Given the description of an element on the screen output the (x, y) to click on. 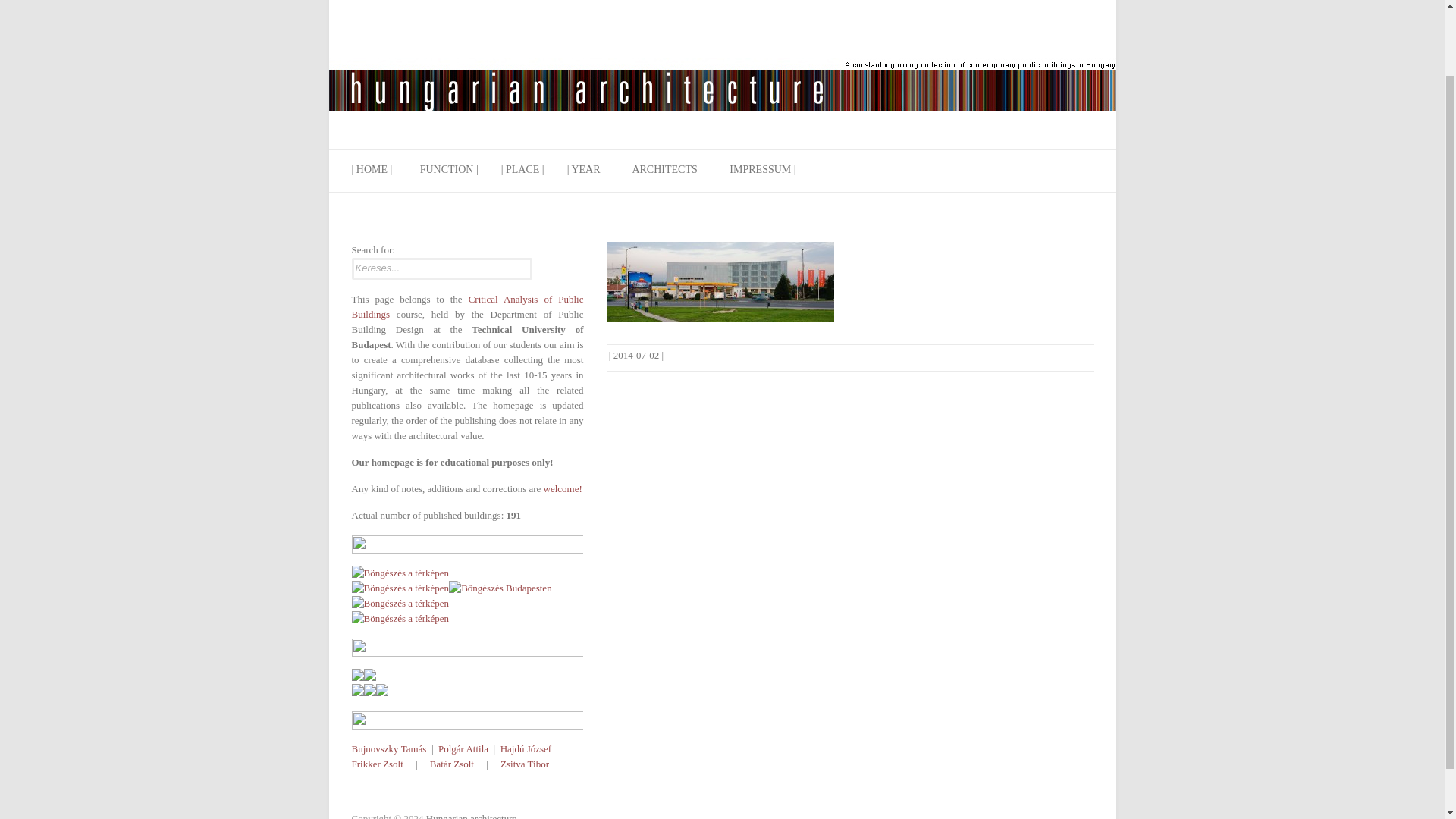
17:24 (635, 355)
Hungarian architecture (722, 55)
Magyar (551, 253)
English (576, 253)
